Given the description of an element on the screen output the (x, y) to click on. 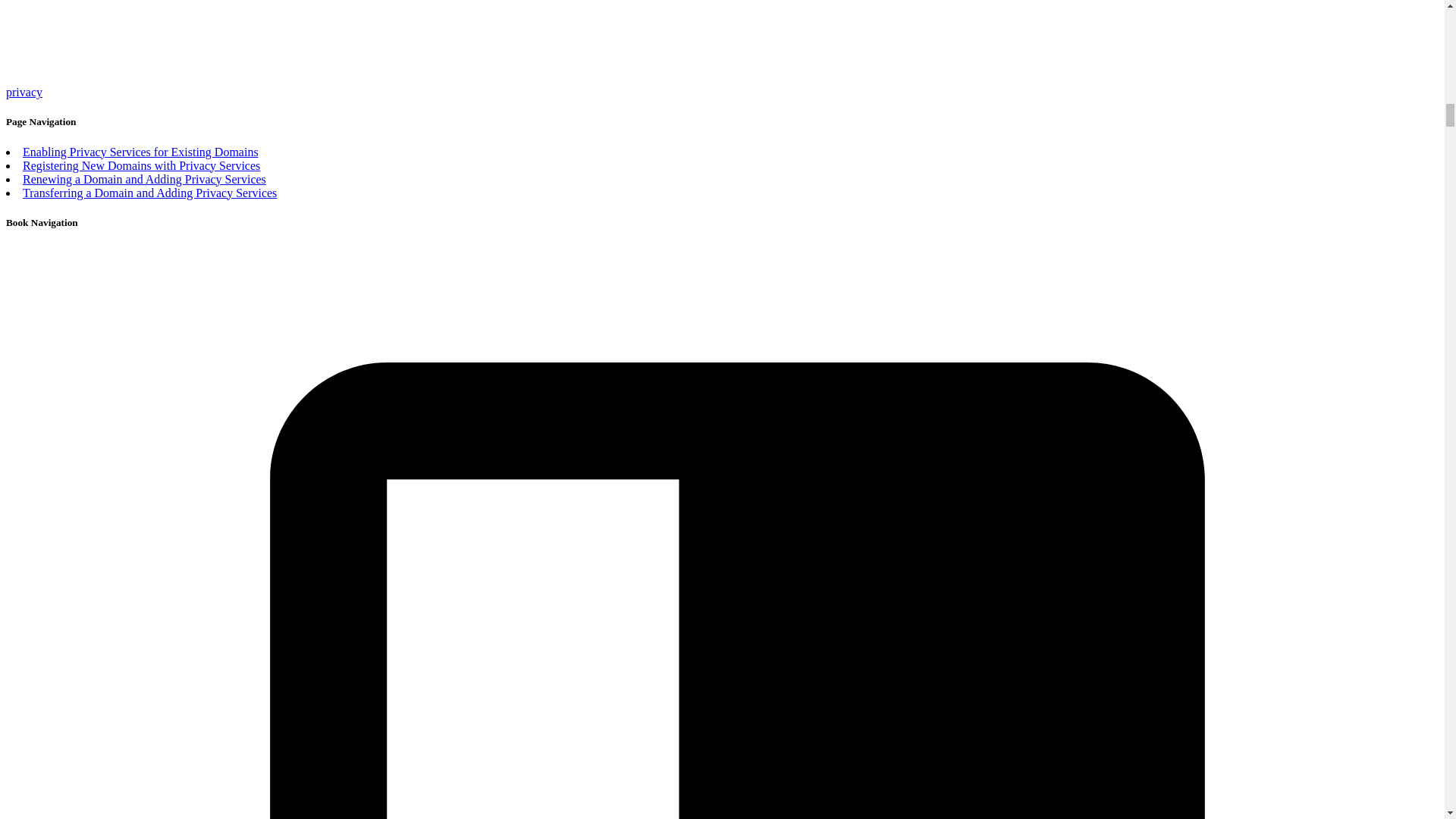
Renewing a Domain and Adding Privacy Services (144, 178)
Transferring a Domain and Adding Privacy Services (149, 192)
Registering New Domains with Privacy Services (141, 164)
Enabling Privacy Services for Existing Domains (141, 151)
